Given the description of an element on the screen output the (x, y) to click on. 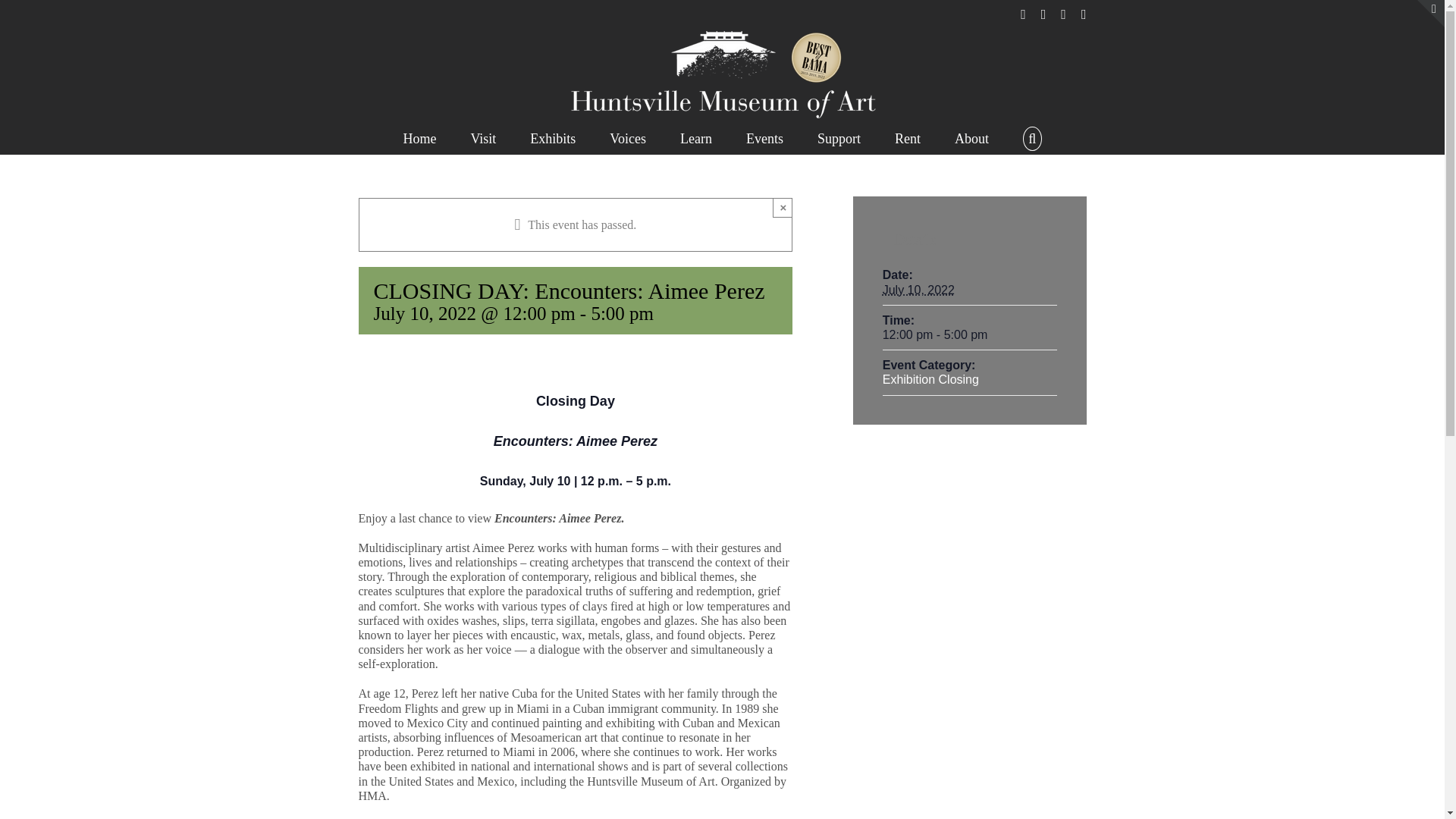
Home (419, 136)
Voices (628, 136)
2022-07-10 (969, 334)
Learn (695, 136)
2022-07-10 (918, 289)
Exhibits (552, 136)
